Given the description of an element on the screen output the (x, y) to click on. 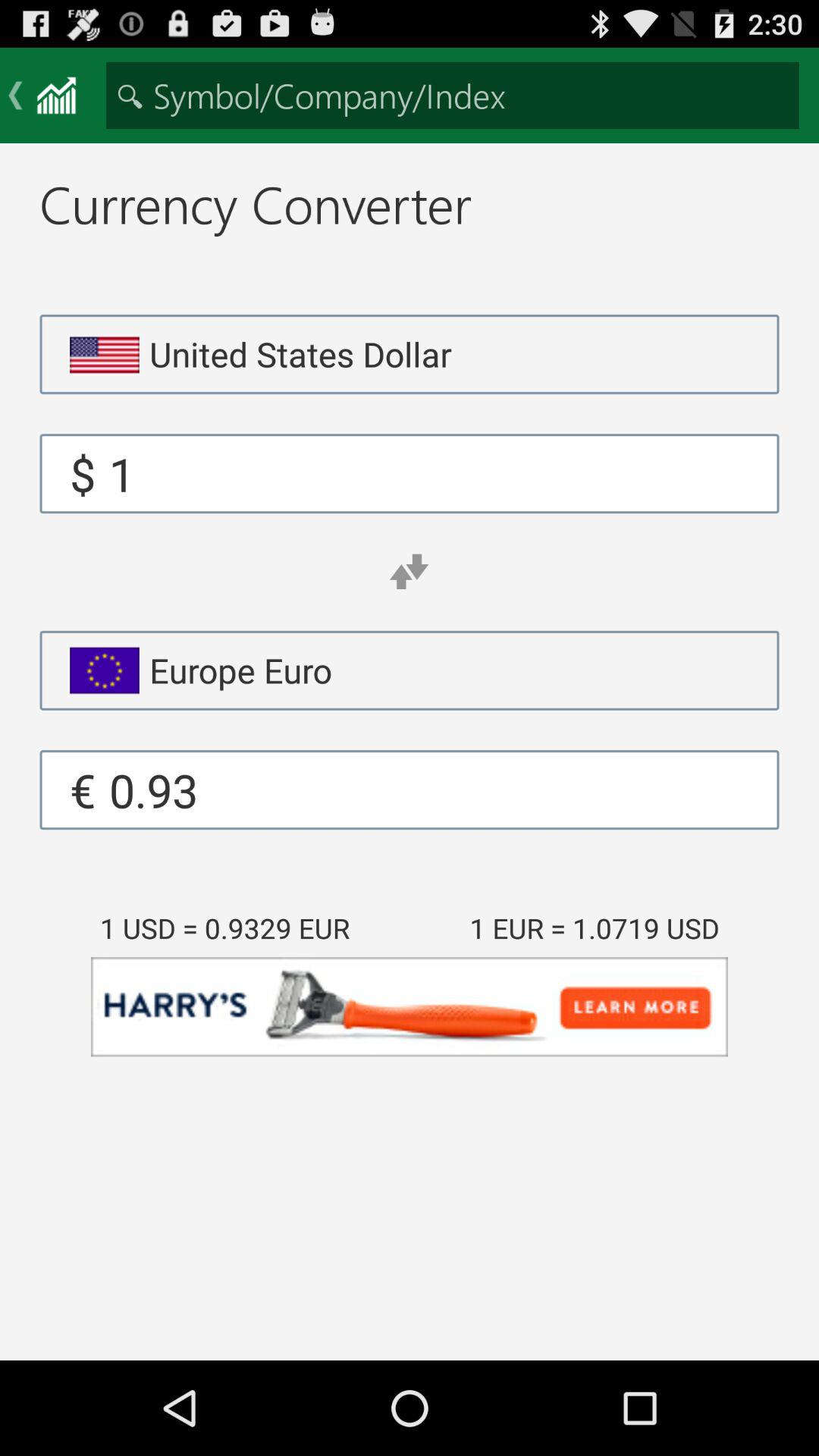
search box (452, 95)
